Given the description of an element on the screen output the (x, y) to click on. 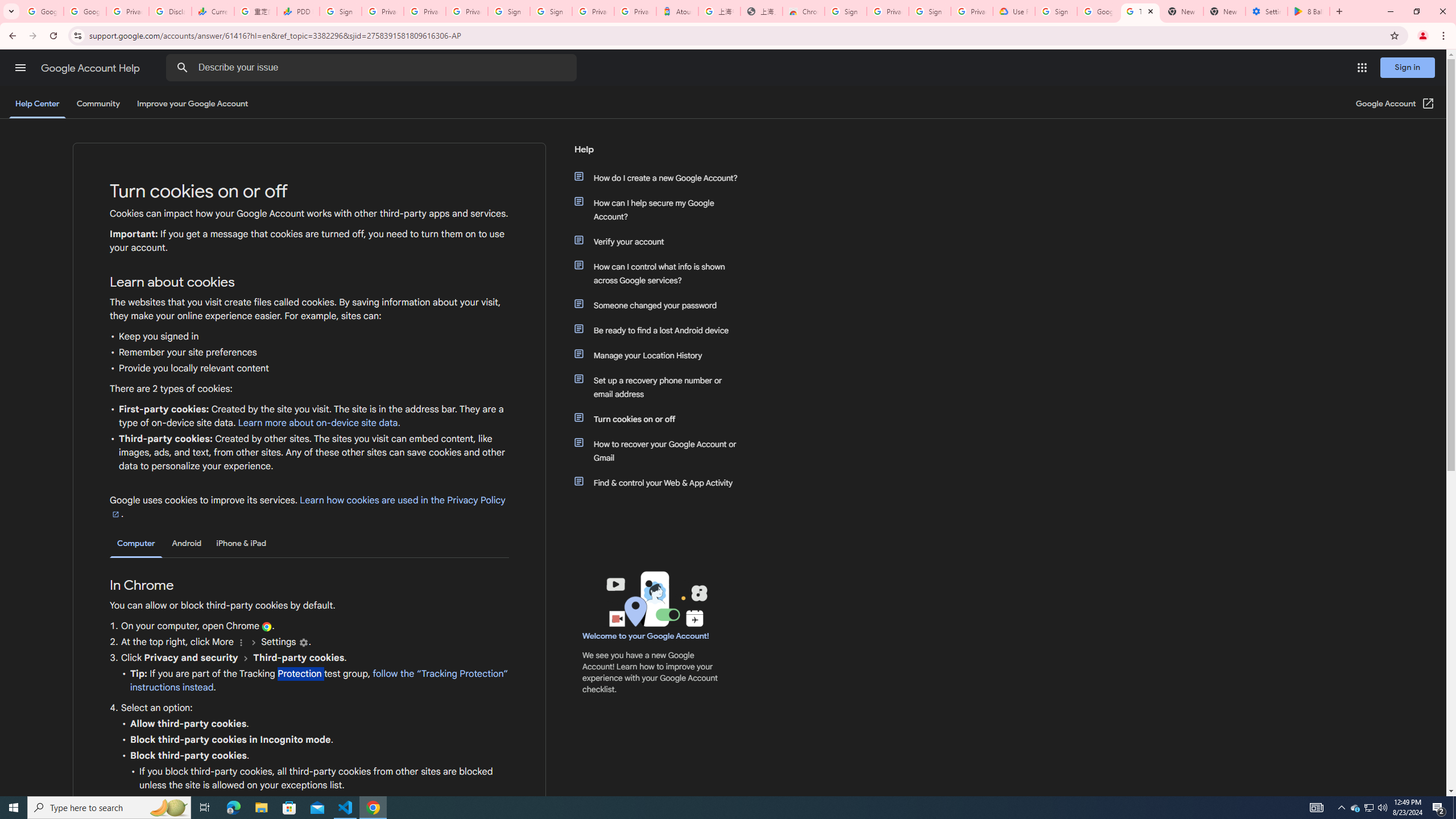
Google Account Help (91, 68)
Google Account (Open in a new window) (1395, 103)
Sign in - Google Accounts (509, 11)
8 Ball Pool - Apps on Google Play (1308, 11)
Community (97, 103)
Help Center (36, 103)
and then (245, 657)
Learning Center home page image (655, 598)
Chrome Web Store - Color themes by Chrome (803, 11)
Sign in - Google Accounts (550, 11)
